Given the description of an element on the screen output the (x, y) to click on. 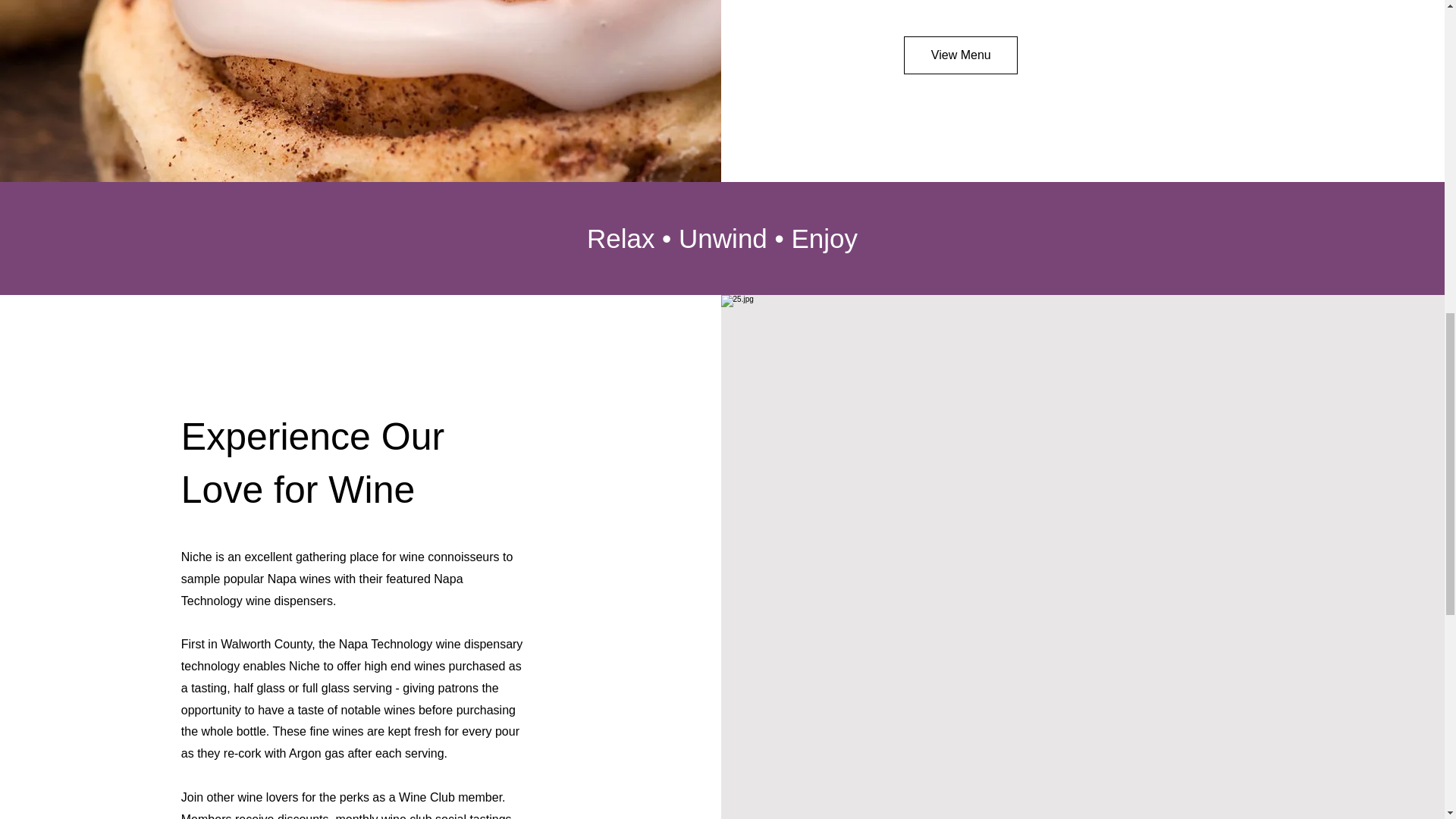
View Menu (960, 55)
